Given the description of an element on the screen output the (x, y) to click on. 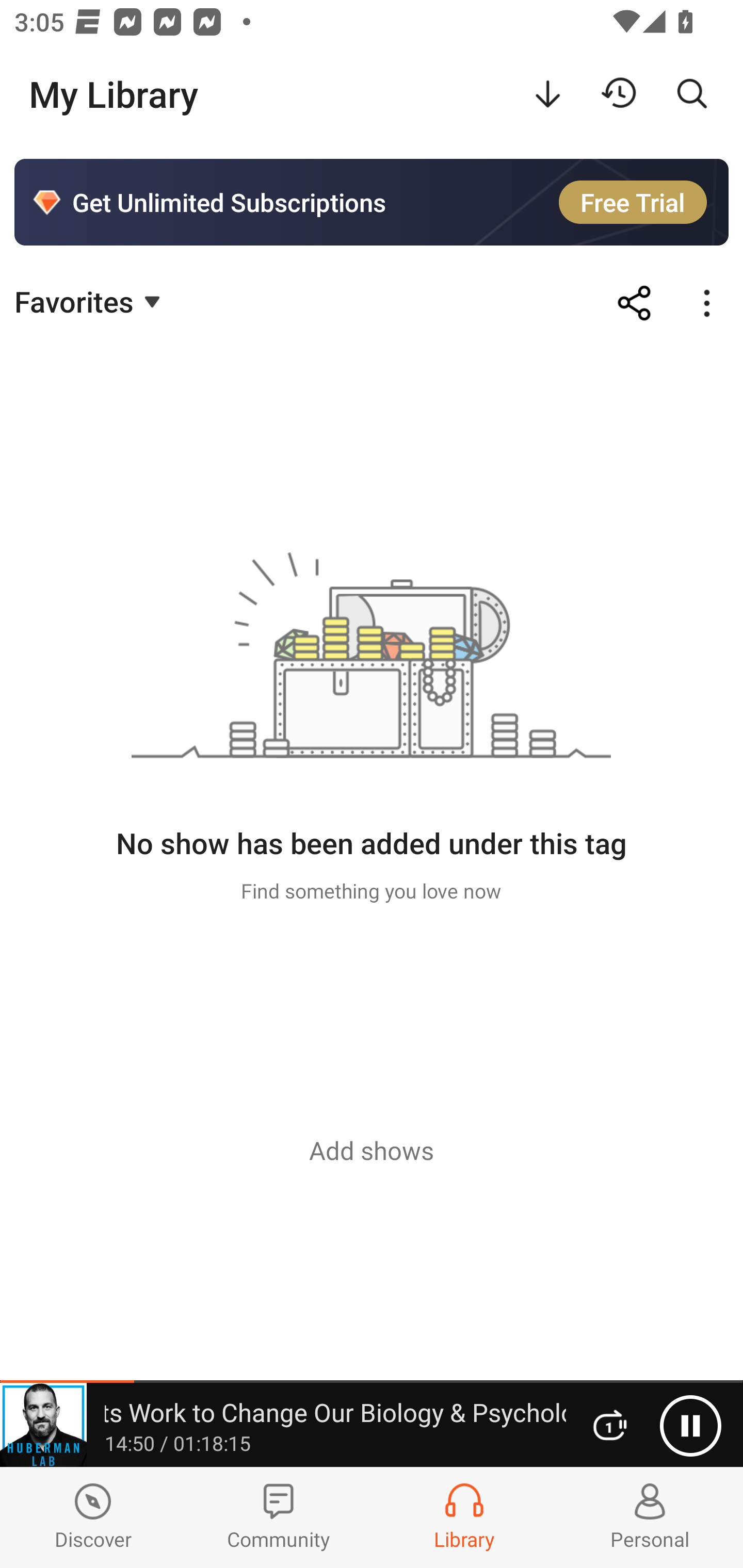
Get Unlimited Subscriptions Free Trial (371, 202)
Free Trial (632, 202)
Favorites (90, 300)
Add shows (371, 1150)
Pause (690, 1425)
Discover (92, 1517)
Community (278, 1517)
Library (464, 1517)
Profiles and Settings Personal (650, 1517)
